Given the description of an element on the screen output the (x, y) to click on. 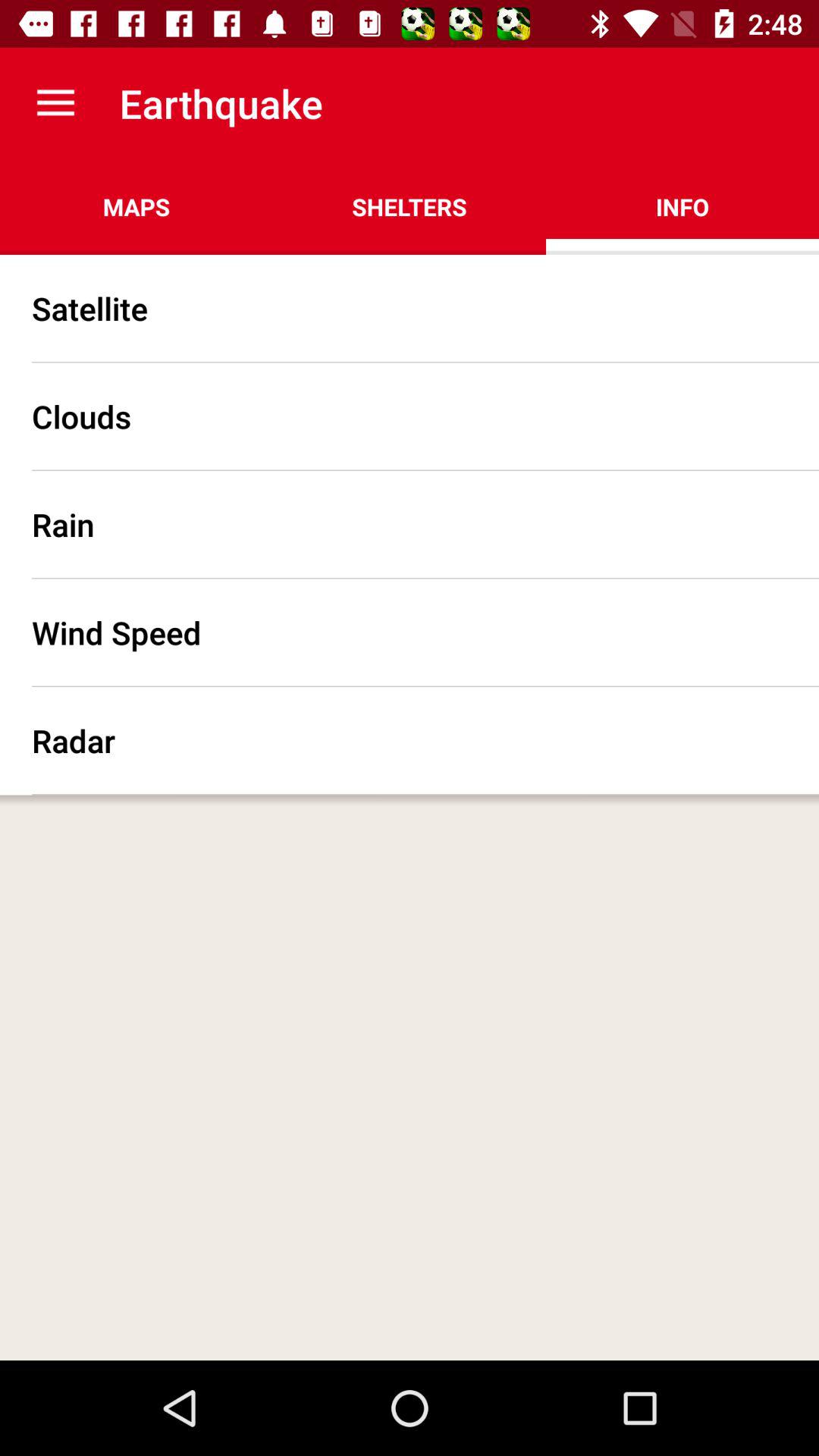
choose the item to the right of shelters icon (682, 206)
